Given the description of an element on the screen output the (x, y) to click on. 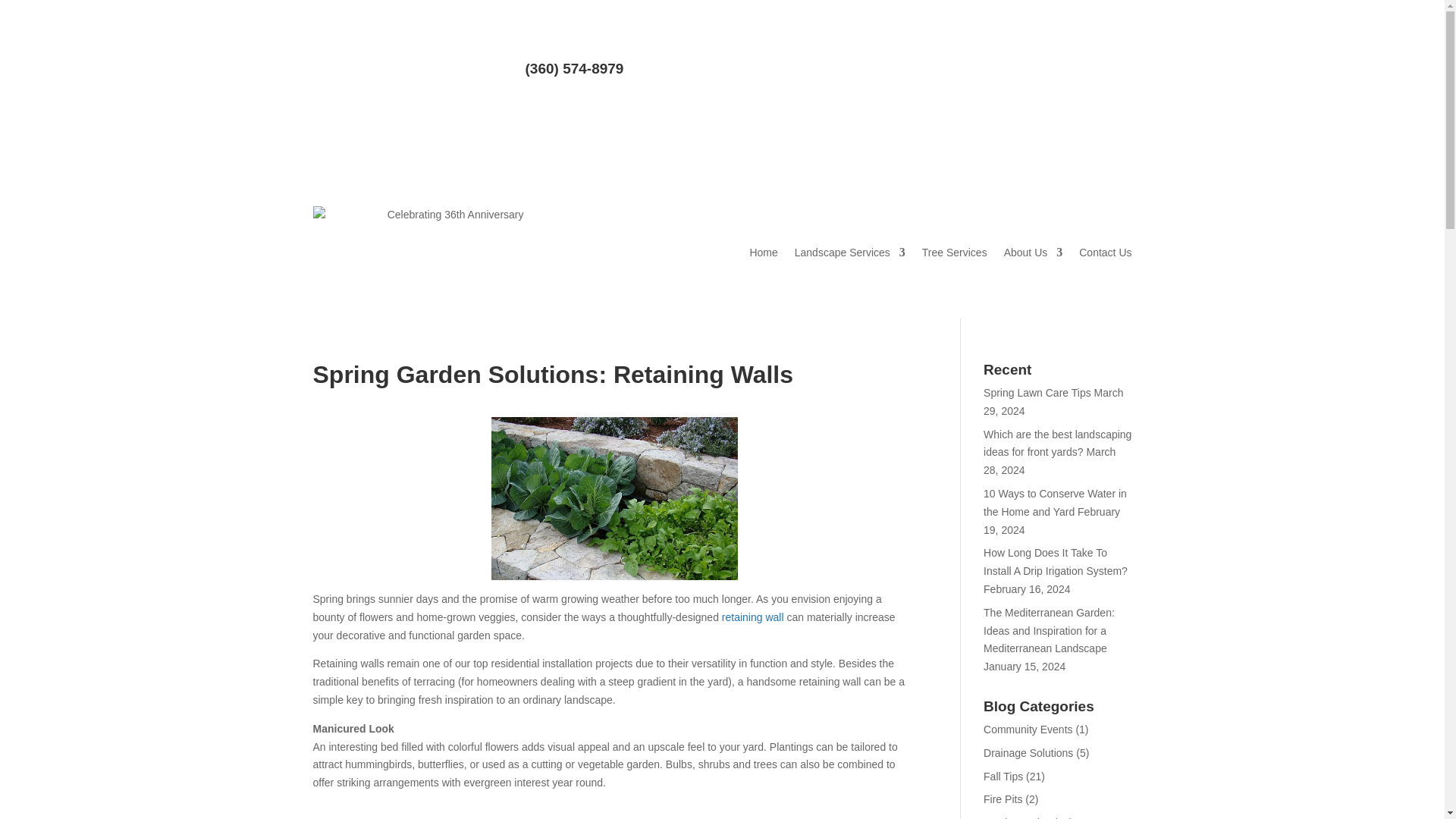
Tree Services (954, 252)
Home (763, 252)
retaining wall (753, 616)
Community Events (1027, 729)
10 Ways to Conserve Water in the Home and Yard (1055, 502)
Fall Tips (1003, 776)
Landscape Services (849, 252)
Spring Lawn Care Tips (1037, 392)
Contact Us (1104, 252)
How Long Does It Take To Install A Drip Irigation System? (1055, 562)
Drainage Solutions (1028, 752)
About Us (1033, 252)
Which are the best landscaping ideas for front yards? (1057, 443)
